Given the description of an element on the screen output the (x, y) to click on. 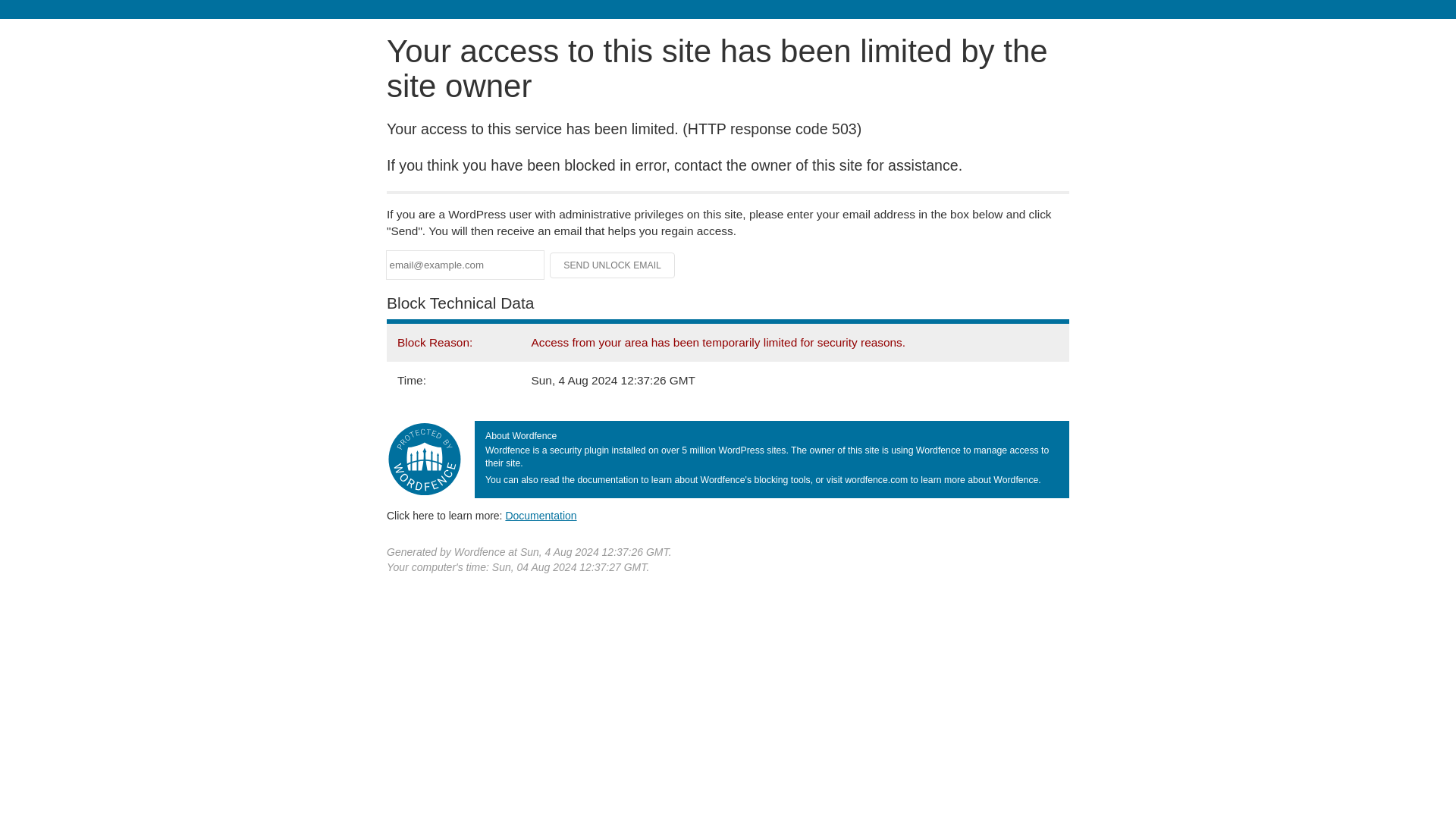
Send Unlock Email (612, 265)
Documentation (540, 515)
Send Unlock Email (612, 265)
